Given the description of an element on the screen output the (x, y) to click on. 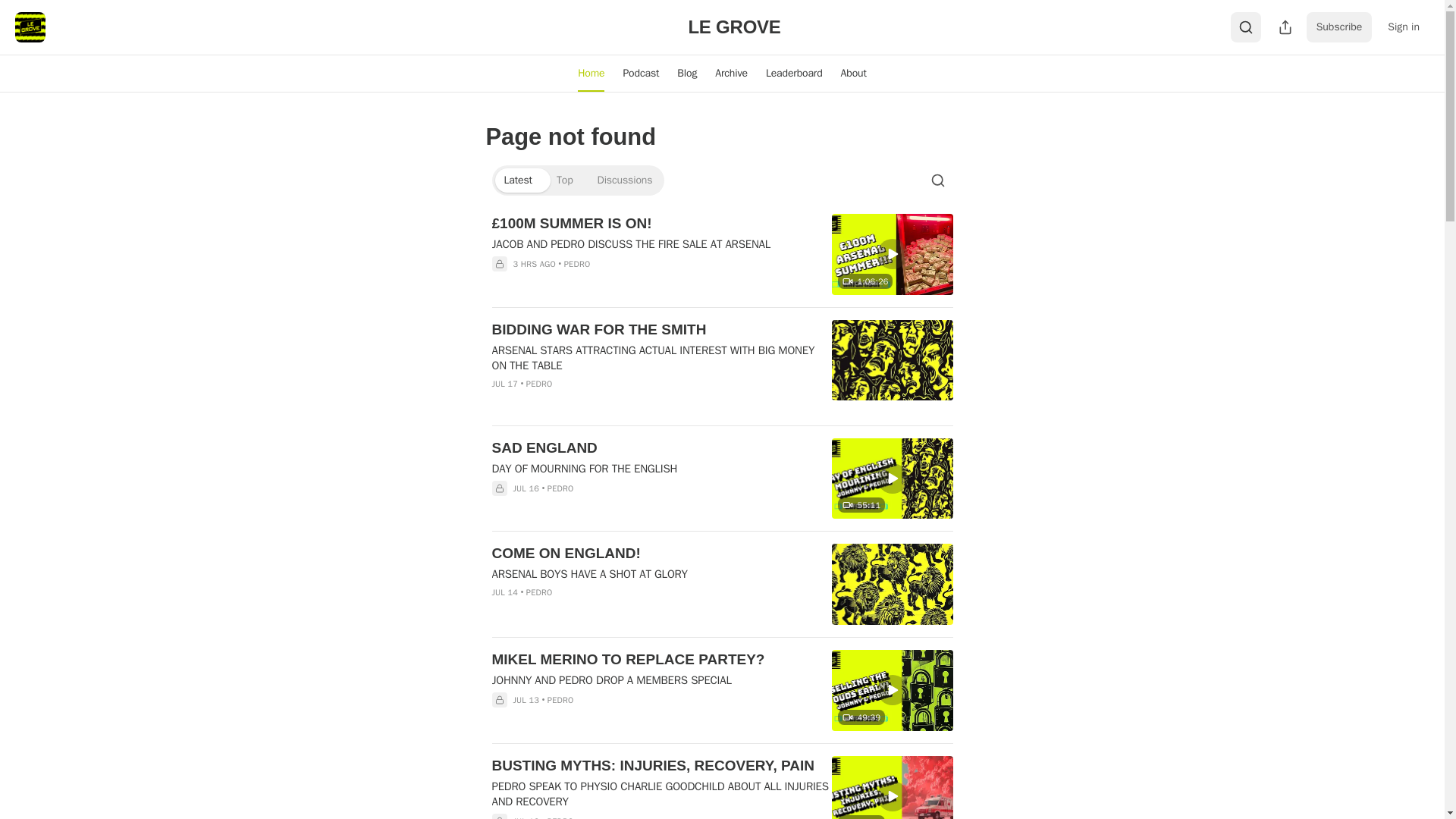
Podcast (640, 73)
LE GROVE (733, 26)
BIDDING WAR FOR THE SMITH (661, 329)
Blog (687, 73)
PEDRO (539, 383)
JACOB AND PEDRO DISCUSS THE FIRE SALE AT ARSENAL (661, 243)
Top (564, 180)
Leaderboard (794, 73)
Latest (517, 180)
Discussions (625, 180)
Sign in (1403, 27)
About (853, 73)
Subscribe (1339, 27)
Home (590, 73)
